Given the description of an element on the screen output the (x, y) to click on. 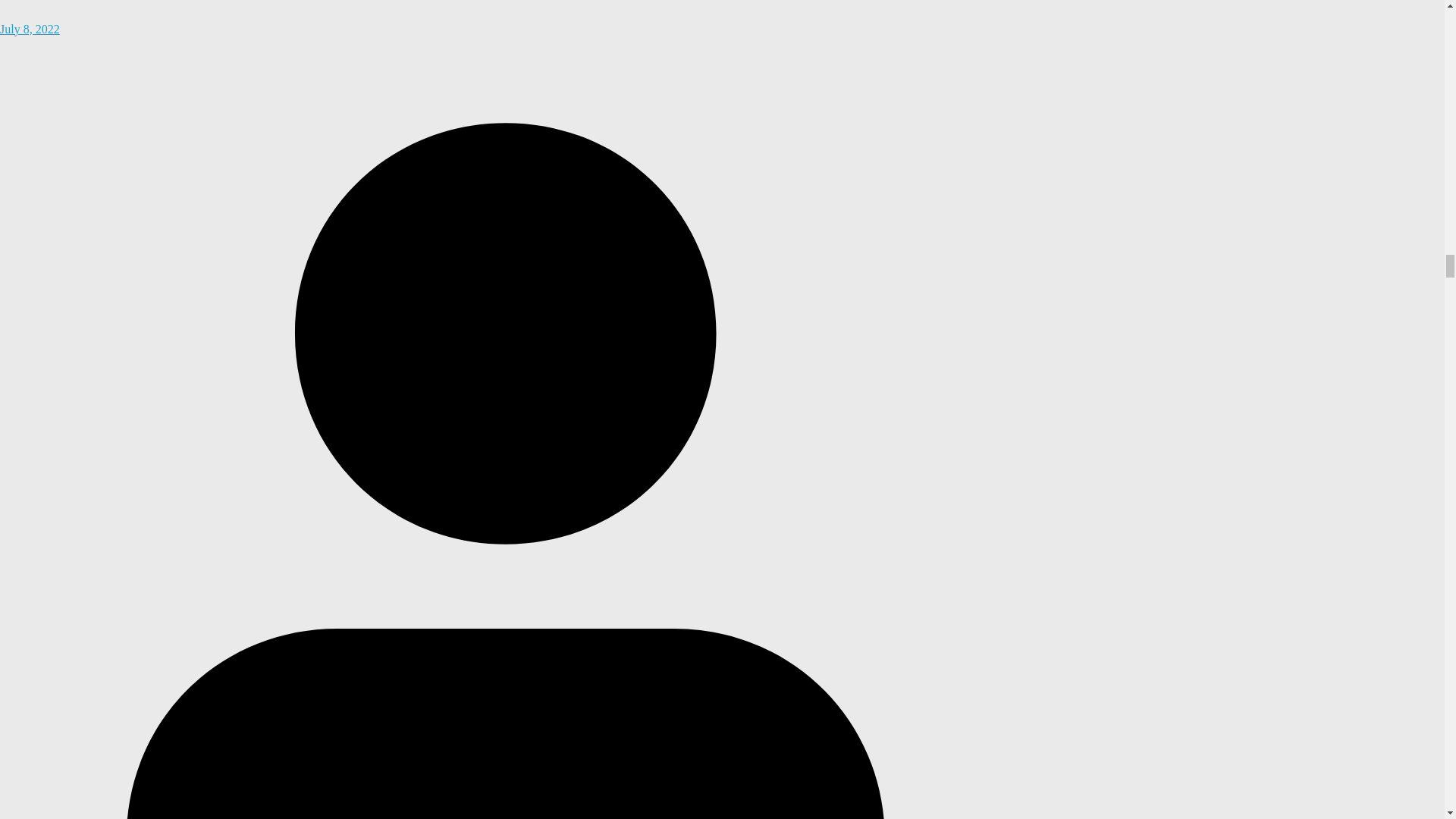
11:43 am (505, 19)
